Given the description of an element on the screen output the (x, y) to click on. 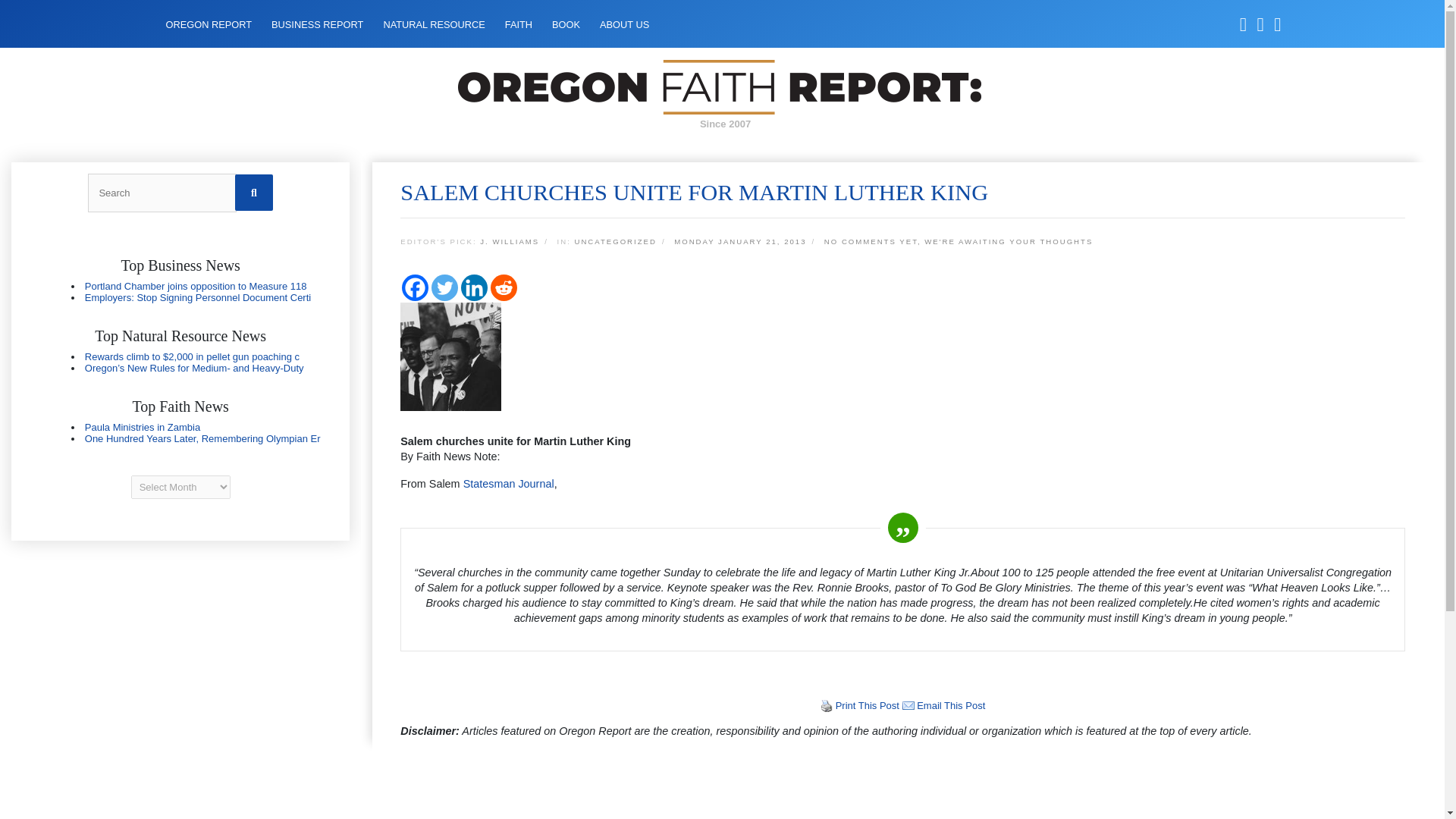
Oregon (180, 362)
One Hundred Years Later, Remembering Olympian Eric Liddell (202, 438)
UNCATEGORIZED (614, 242)
Portland Chamber joins opposition to Measure 118 (195, 285)
BUSINESS REPORT (316, 24)
FAITH (518, 24)
Email This Post (908, 705)
ABOUT US (624, 24)
Statesman Journal (508, 483)
